Given the description of an element on the screen output the (x, y) to click on. 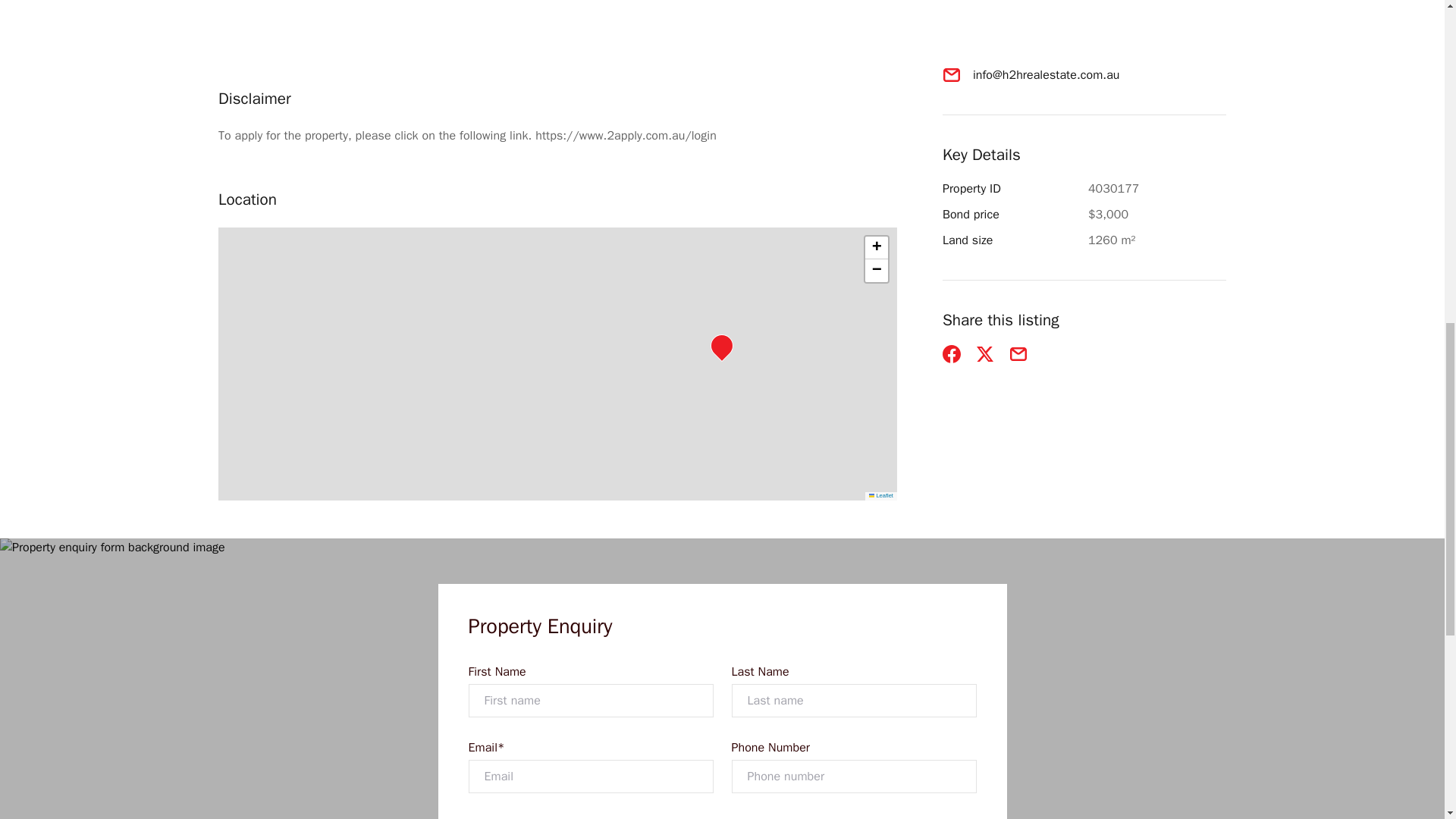
Zoom in (876, 247)
Zoom out (876, 270)
A JavaScript library for interactive maps (881, 495)
0413 236 293 (1012, 49)
Leaflet (881, 495)
